Given the description of an element on the screen output the (x, y) to click on. 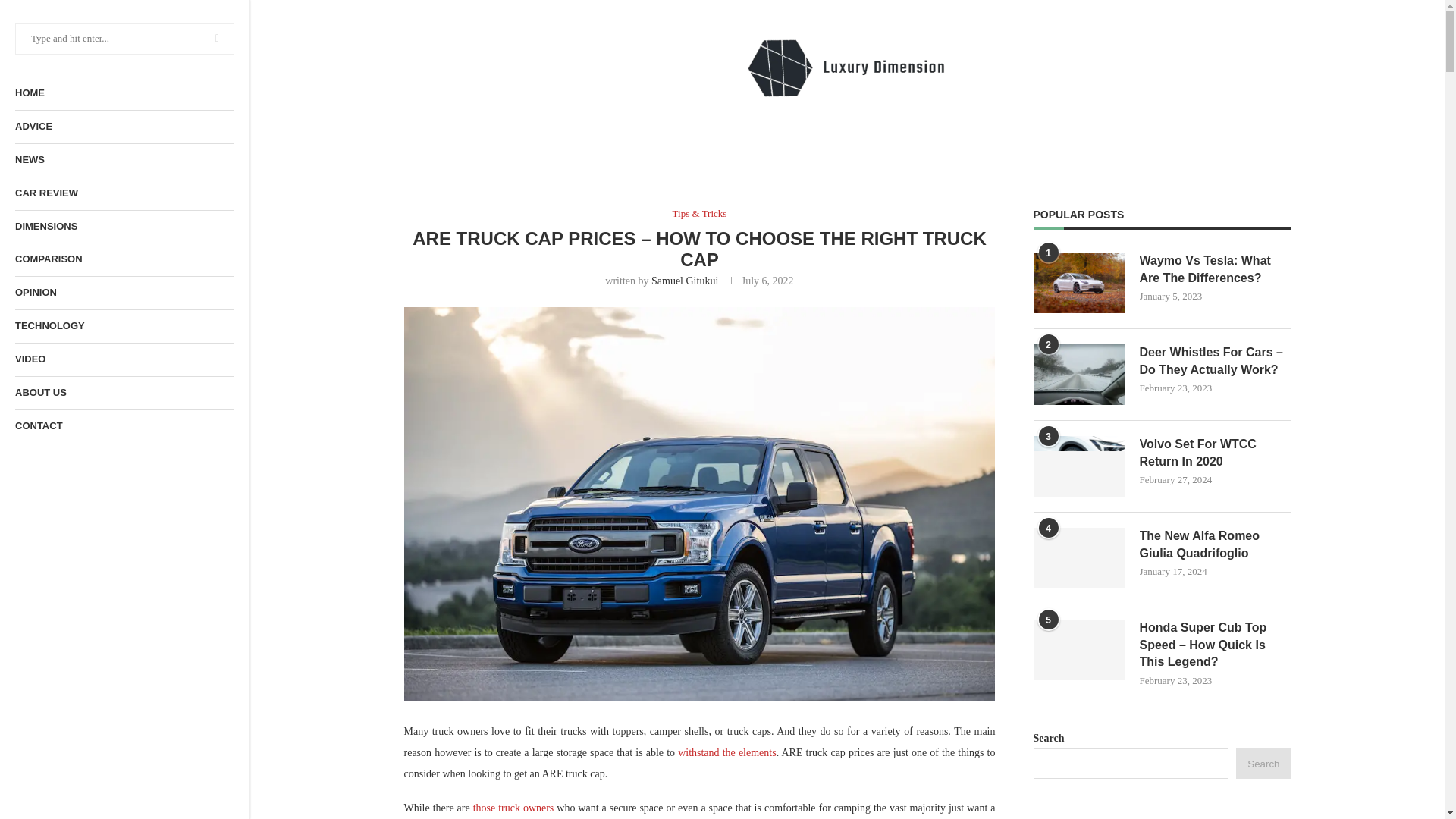
TECHNOLOGY (124, 326)
Samuel Gitukui (683, 280)
NEWS (124, 160)
ADVICE (124, 126)
ABOUT US (124, 392)
VIDEO (124, 359)
CONTACT (124, 426)
HOME (124, 92)
withstand the elements (727, 752)
DIMENSIONS (124, 226)
